Given the description of an element on the screen output the (x, y) to click on. 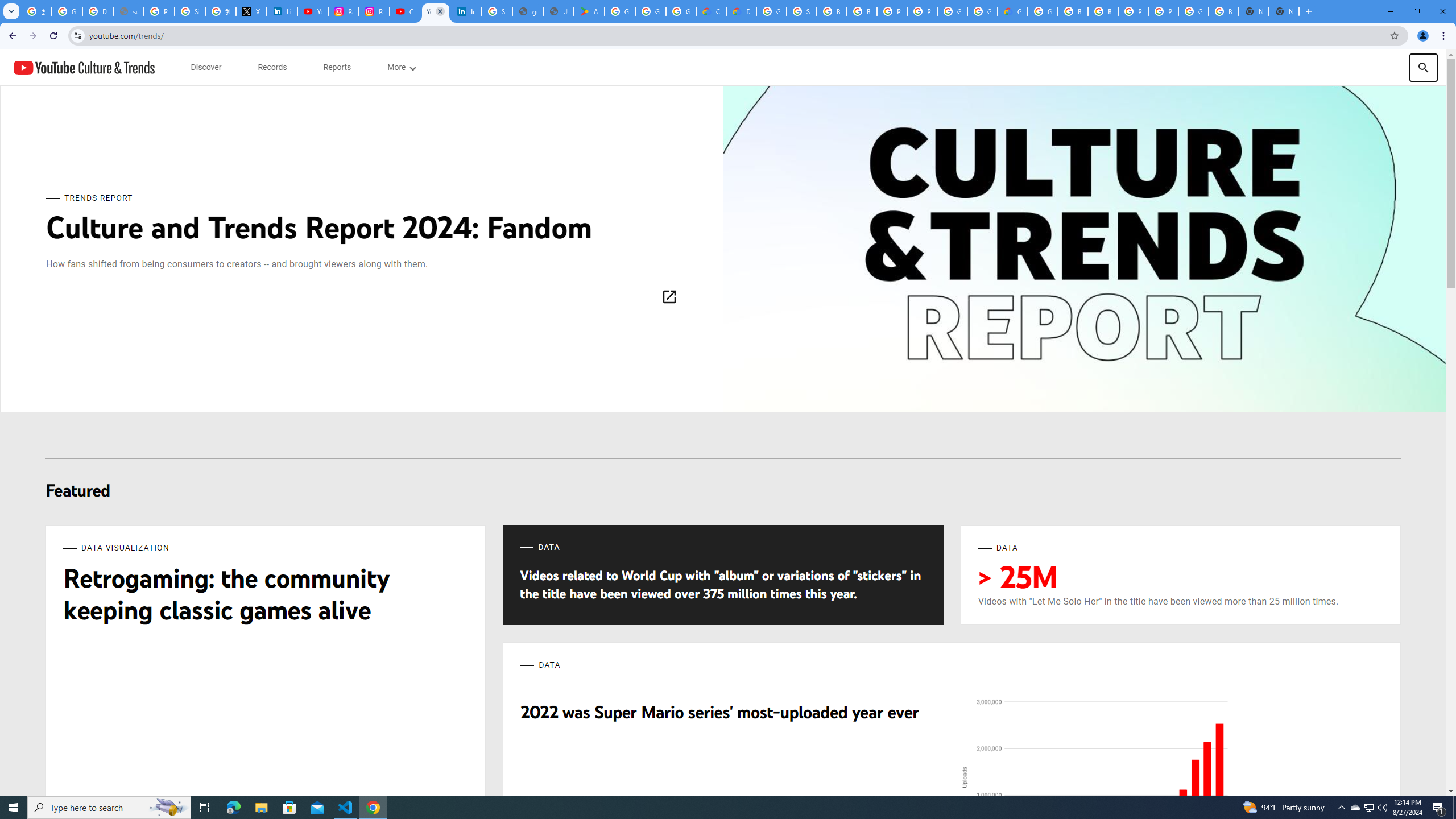
Google Cloud Platform (771, 11)
Android Apps on Google Play (589, 11)
Identity verification via Persona | LinkedIn Help (465, 11)
subnav-Discover menupopup (205, 67)
subnav-Records menupopup (271, 67)
YouTube Culture & Trends (83, 67)
